Given the description of an element on the screen output the (x, y) to click on. 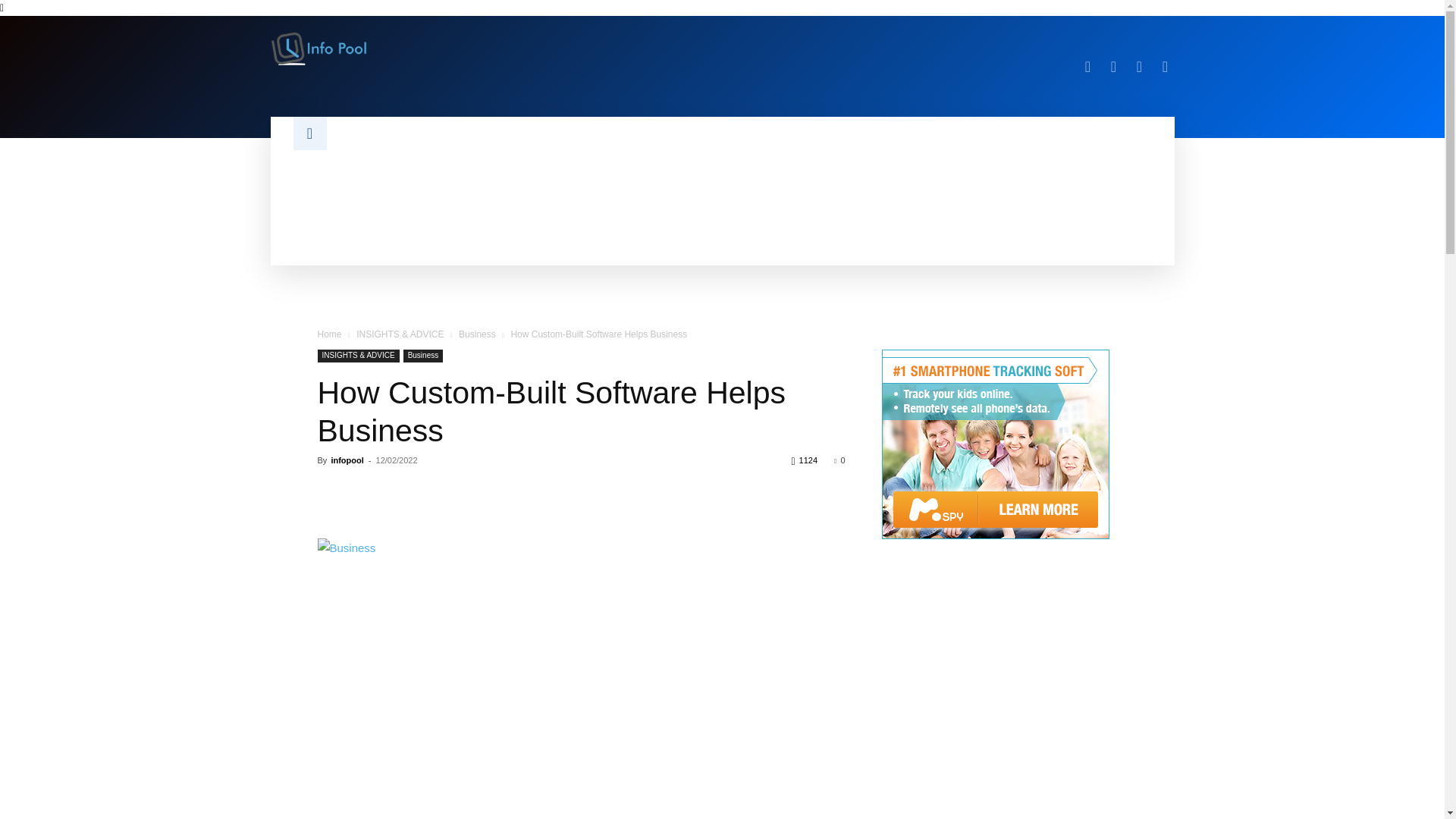
Facebook (1087, 66)
Youtube (1164, 66)
Mail (1112, 66)
Twitter (1138, 66)
View all posts in Business (477, 334)
